Given the description of an element on the screen output the (x, y) to click on. 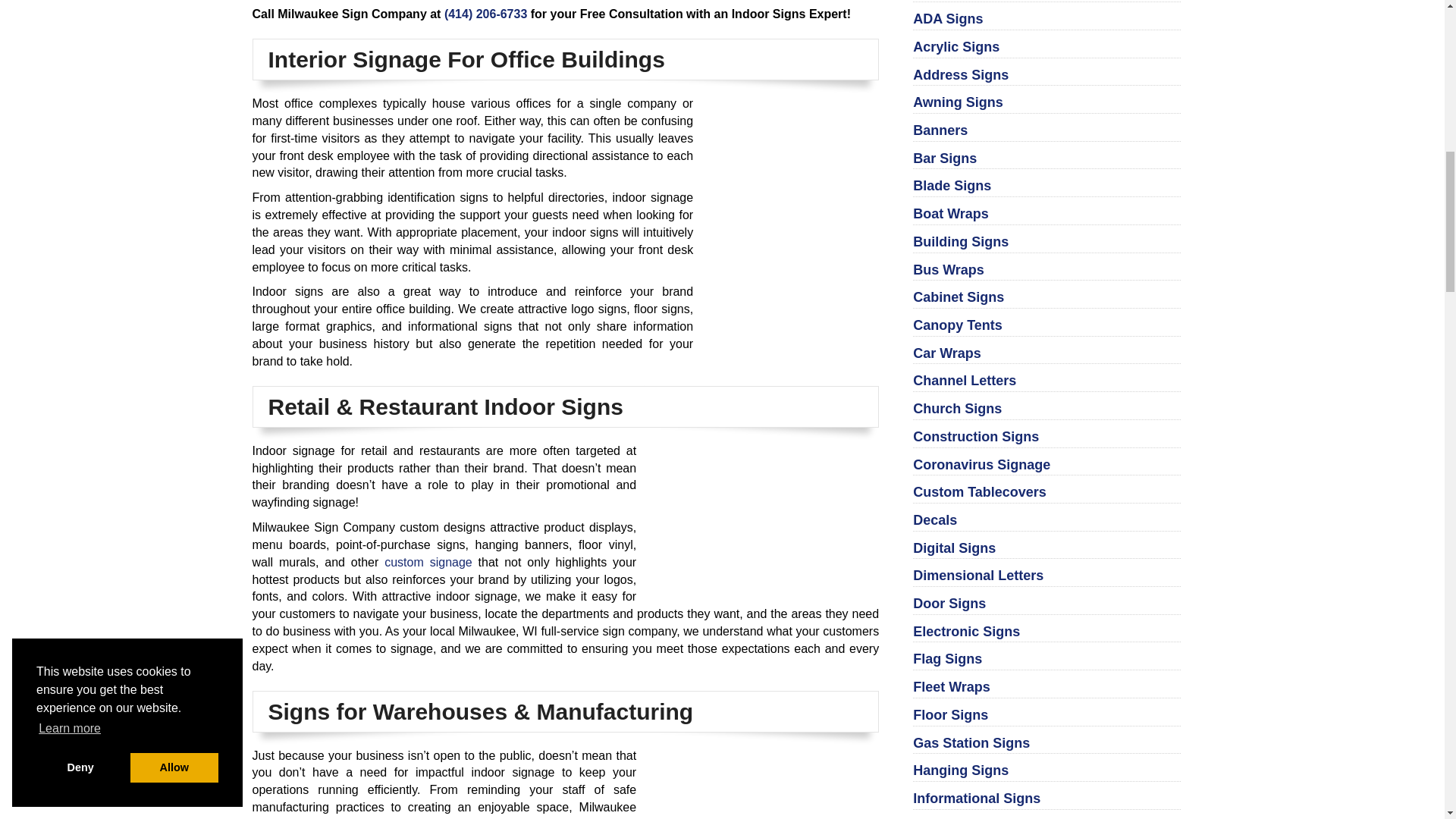
custom signage (427, 562)
